Given the description of an element on the screen output the (x, y) to click on. 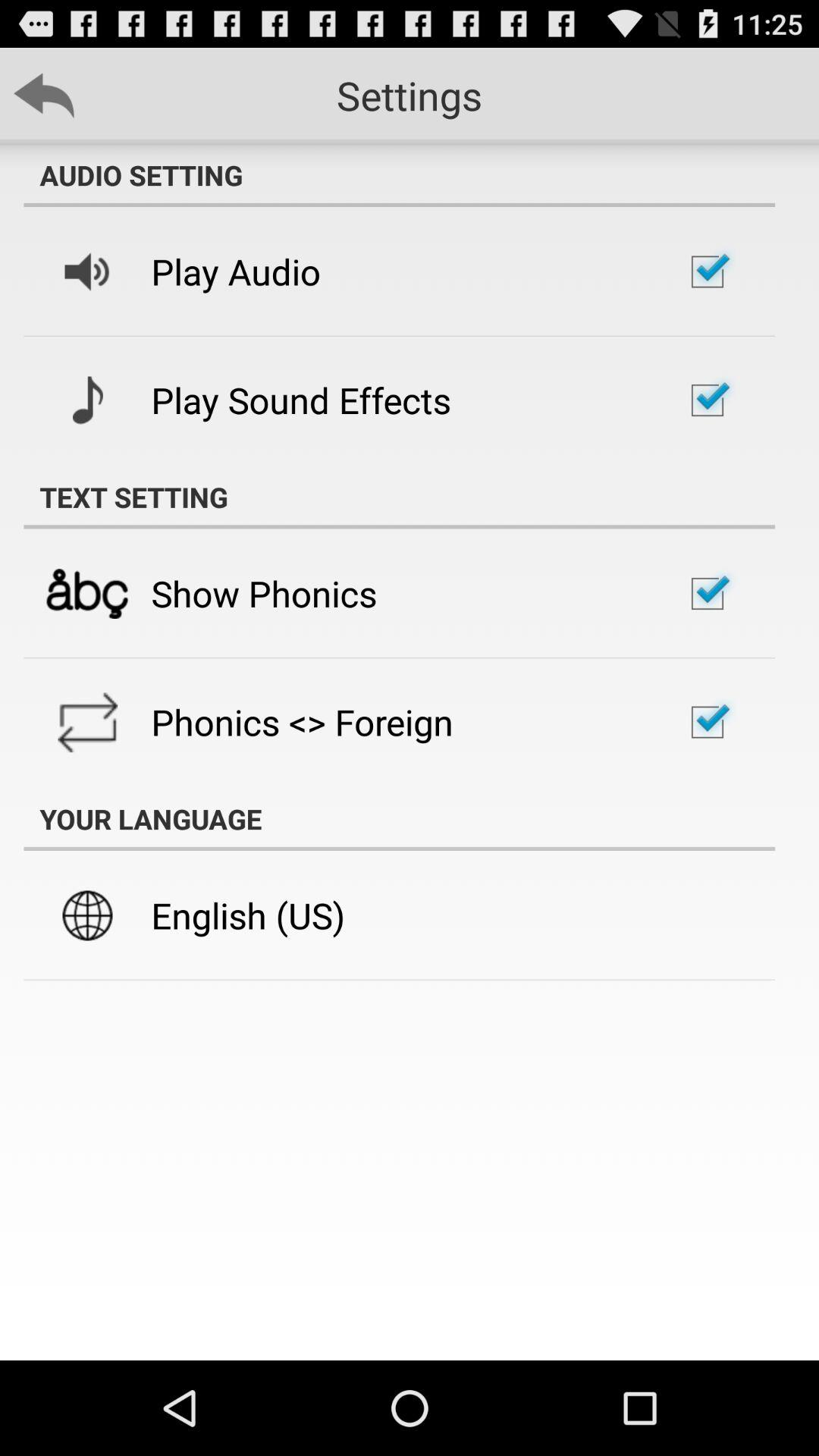
click the show phonics (264, 593)
